Given the description of an element on the screen output the (x, y) to click on. 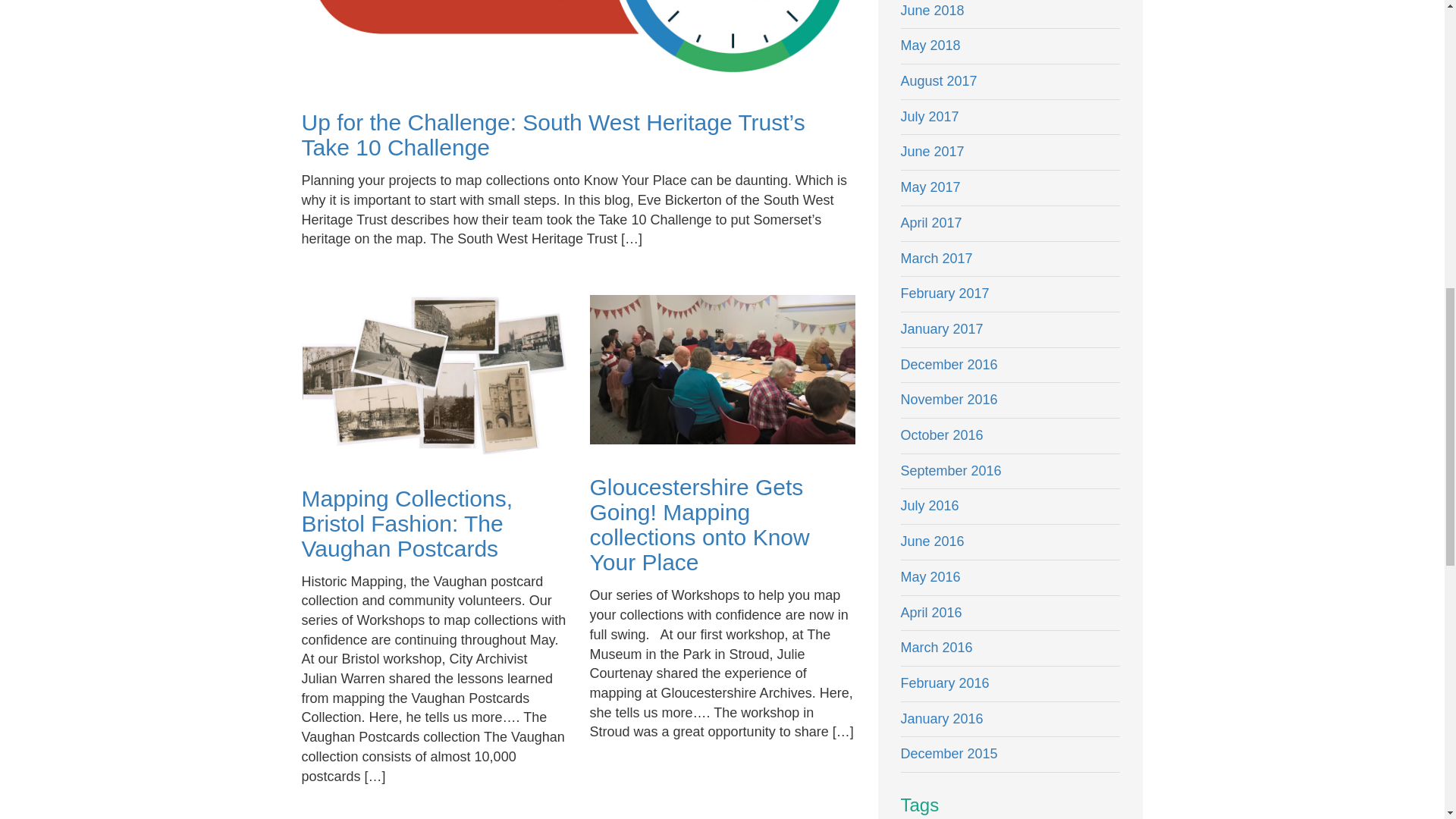
June 2017 (1011, 152)
July 2017 (1011, 117)
September 2016 (1011, 471)
May 2017 (1011, 188)
April 2016 (1011, 613)
October 2016 (1011, 436)
February 2017 (1011, 294)
Mapping Collections, Bristol Fashion: The Vaughan Postcards (406, 523)
July 2016 (1011, 506)
January 2017 (1011, 330)
April 2017 (1011, 223)
March 2016 (1011, 648)
May 2018 (1011, 46)
March 2017 (1011, 259)
